Given the description of an element on the screen output the (x, y) to click on. 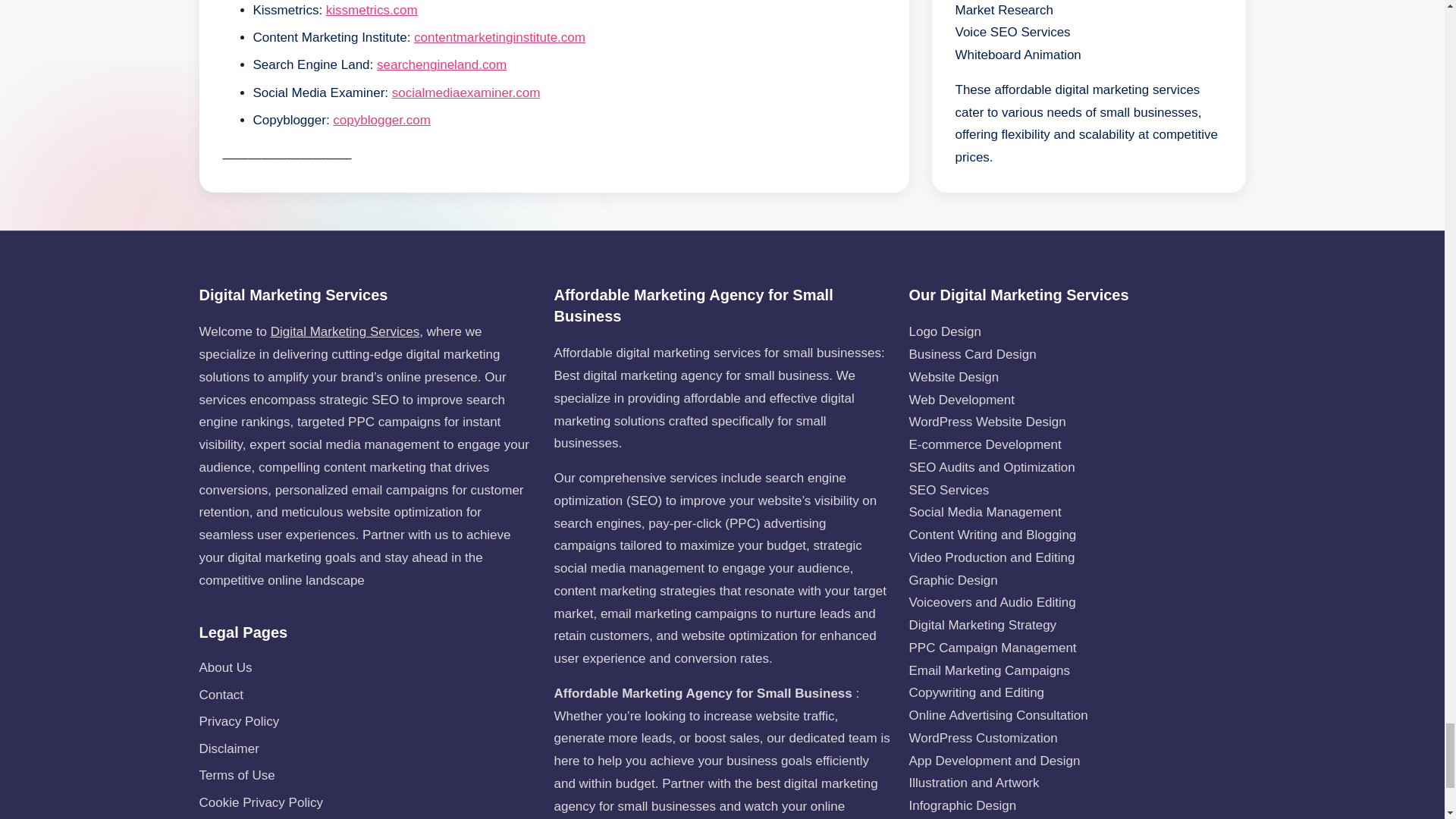
Terms of Use (236, 775)
Privacy Policy (238, 721)
About Us (224, 667)
copyblogger.com (381, 120)
searchengineland.com (441, 64)
Contact (220, 694)
socialmediaexaminer.com (465, 92)
Disclaimer (228, 748)
Digital Marketing Services (345, 331)
Cookie Privacy Policy (259, 802)
